Given the description of an element on the screen output the (x, y) to click on. 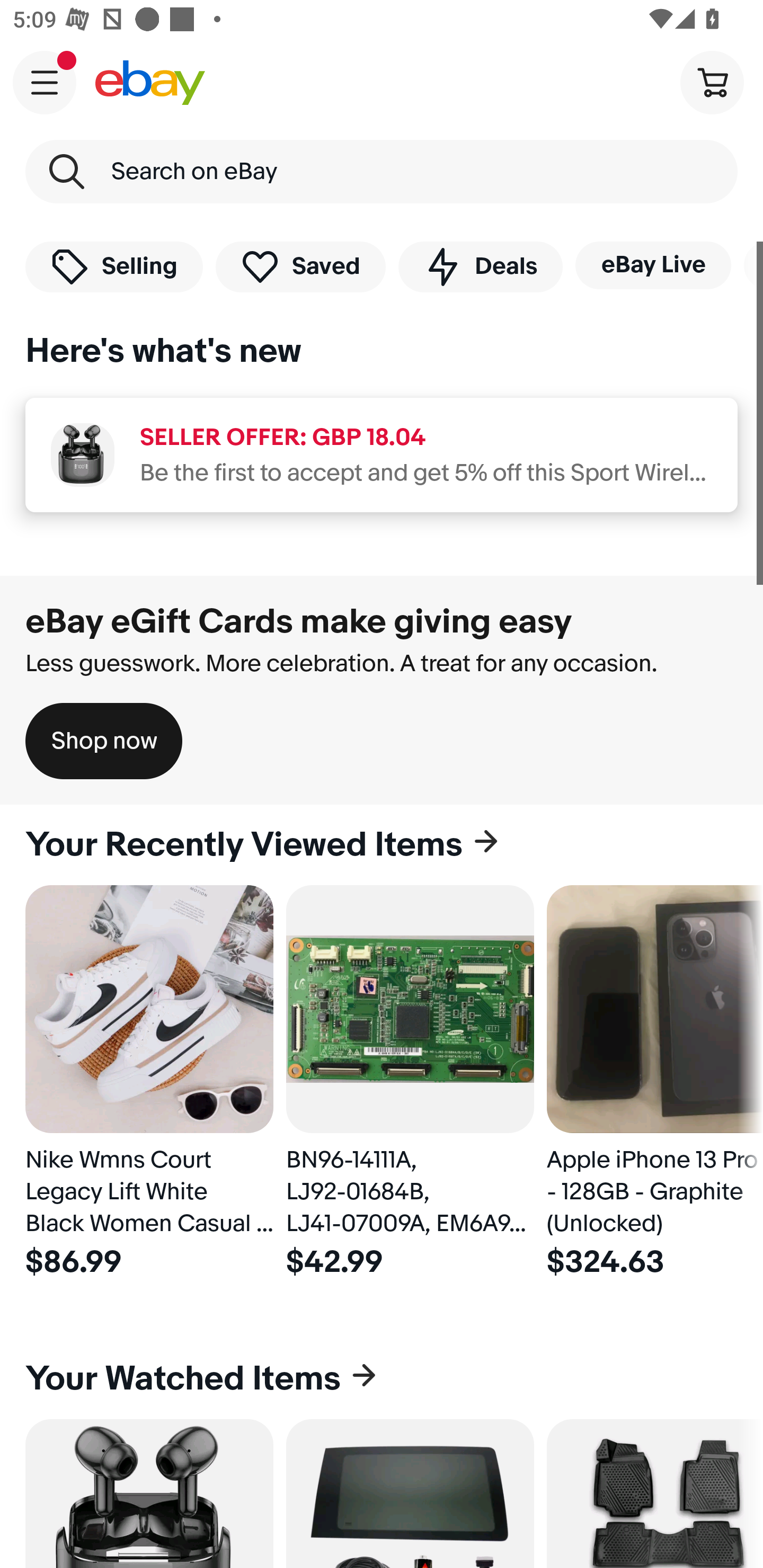
Main navigation, notification is pending, open (44, 82)
Cart button shopping cart (711, 81)
Search on eBay Search Keyword Search on eBay (381, 171)
Selling (113, 266)
Saved (300, 266)
Deals (480, 266)
eBay Live (652, 264)
eBay eGift Cards make giving easy (298, 621)
Shop now (103, 740)
Your Recently Viewed Items   (381, 844)
Your Watched Items   (381, 1379)
